Given the description of an element on the screen output the (x, y) to click on. 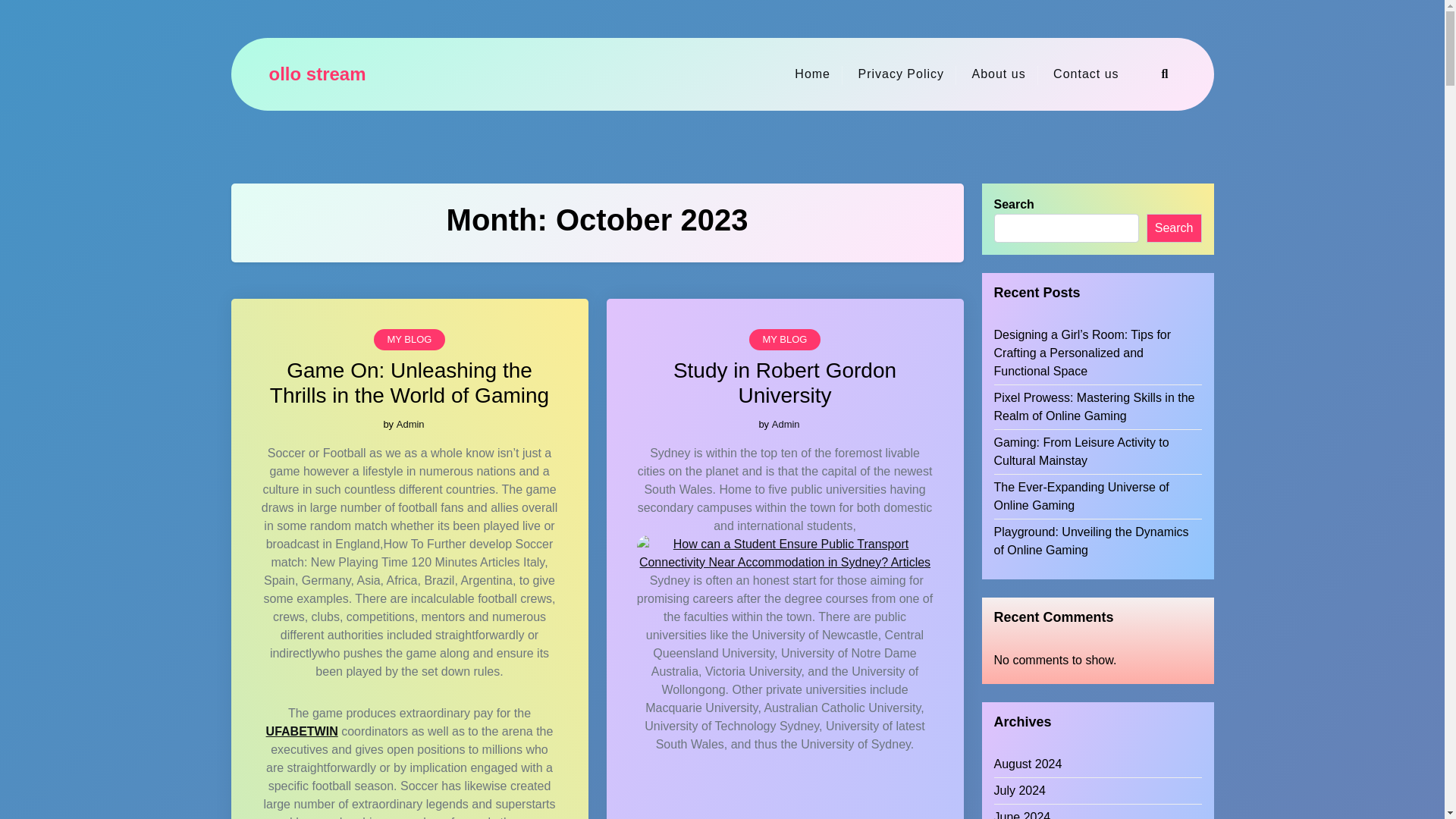
MY BLOG (784, 339)
About us (998, 74)
Contact us (1086, 74)
Admin (785, 424)
Privacy Policy (900, 74)
Search (1026, 409)
Game On: Unleashing the Thrills in the World of Gaming (408, 382)
Study in Robert Gordon University (785, 382)
MY BLOG (409, 339)
Home (813, 74)
UFABETWIN (301, 731)
ollo stream (316, 74)
Admin (410, 424)
